Given the description of an element on the screen output the (x, y) to click on. 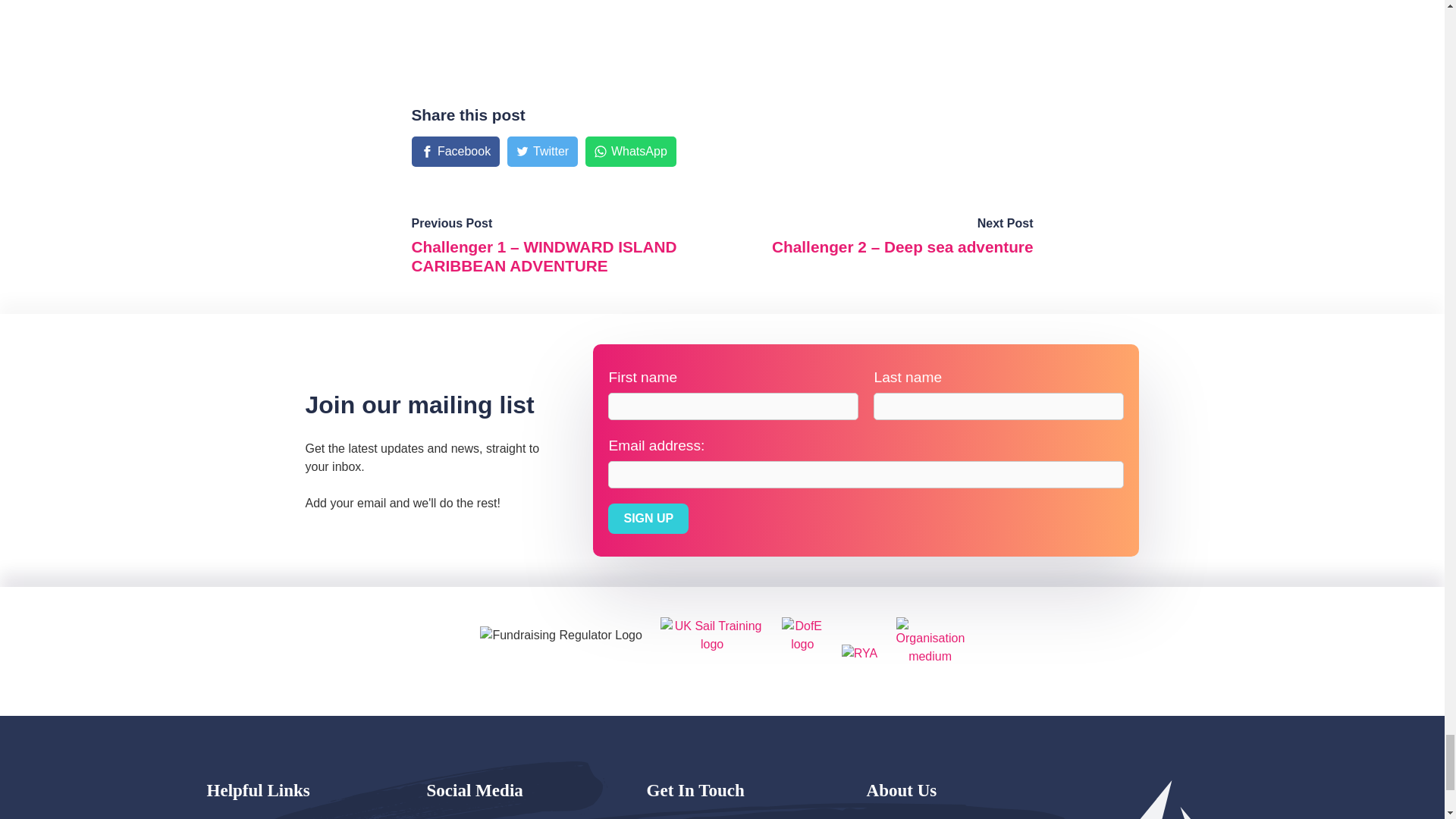
Sign up (648, 518)
